Given the description of an element on the screen output the (x, y) to click on. 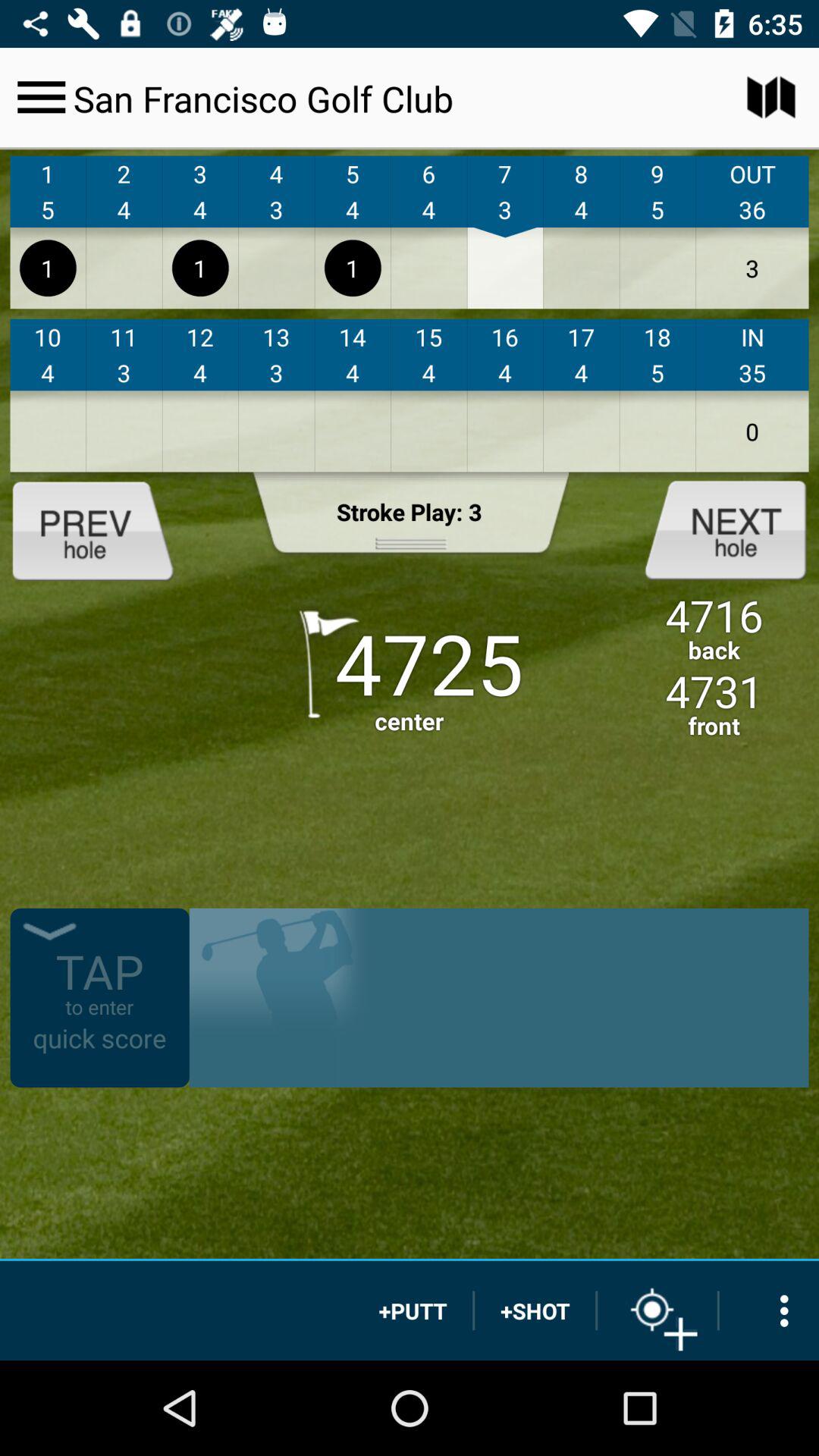
select the icon to the left of san francisco golf (41, 97)
